Given the description of an element on the screen output the (x, y) to click on. 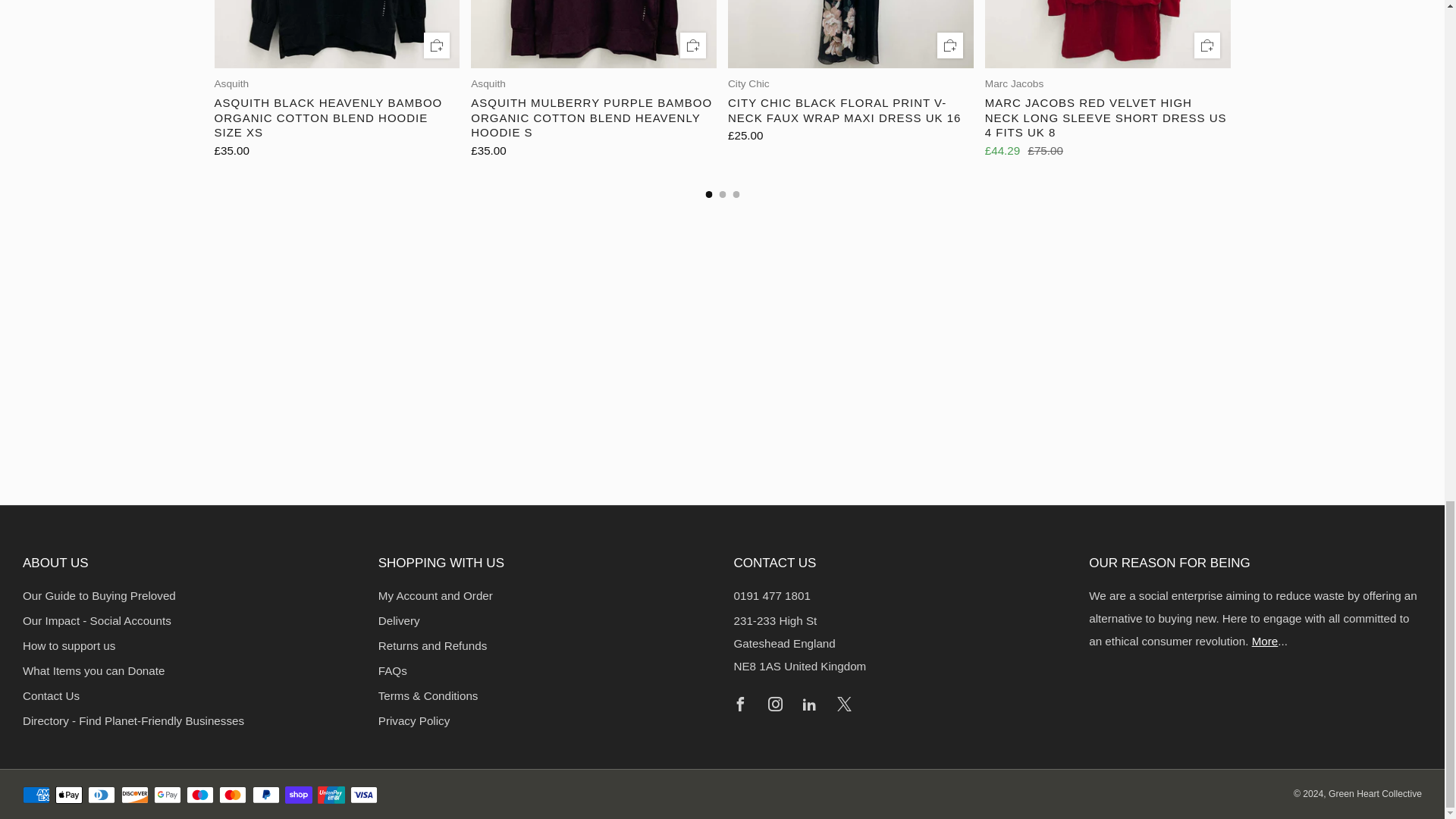
American Express (36, 794)
Apple Pay (68, 794)
Maestro (200, 794)
Diners Club (101, 794)
Discover (134, 794)
Mastercard (232, 794)
Google Pay (167, 794)
